Given the description of an element on the screen output the (x, y) to click on. 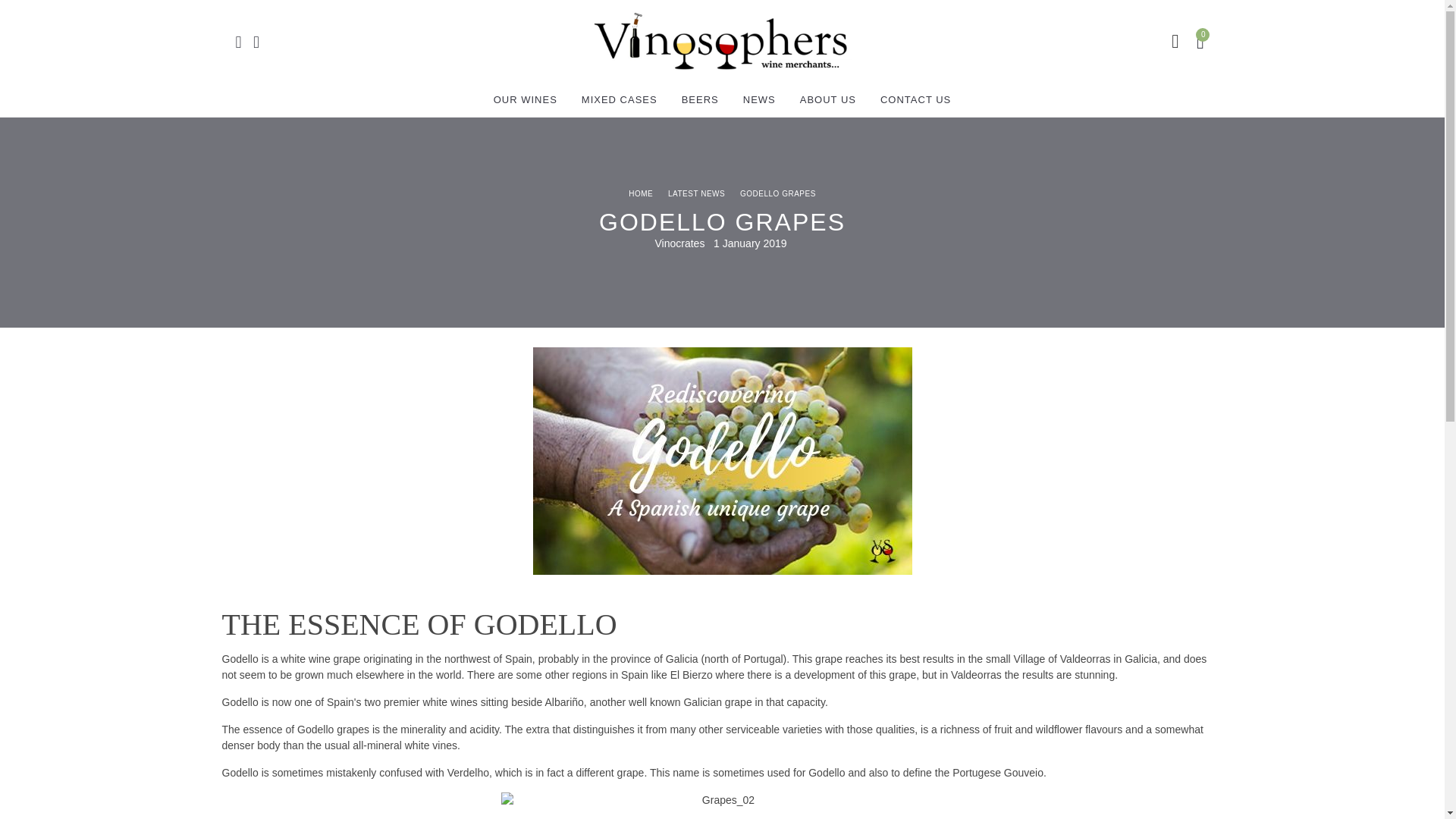
OUR WINES (525, 100)
0 (1202, 40)
BEERS (700, 100)
CONTACT US (915, 100)
GODELLO GRAPES (777, 193)
Vinosophers (719, 40)
LATEST NEWS (696, 193)
ABOUT US (827, 100)
MIXED CASES (619, 100)
HOME (640, 193)
